Given the description of an element on the screen output the (x, y) to click on. 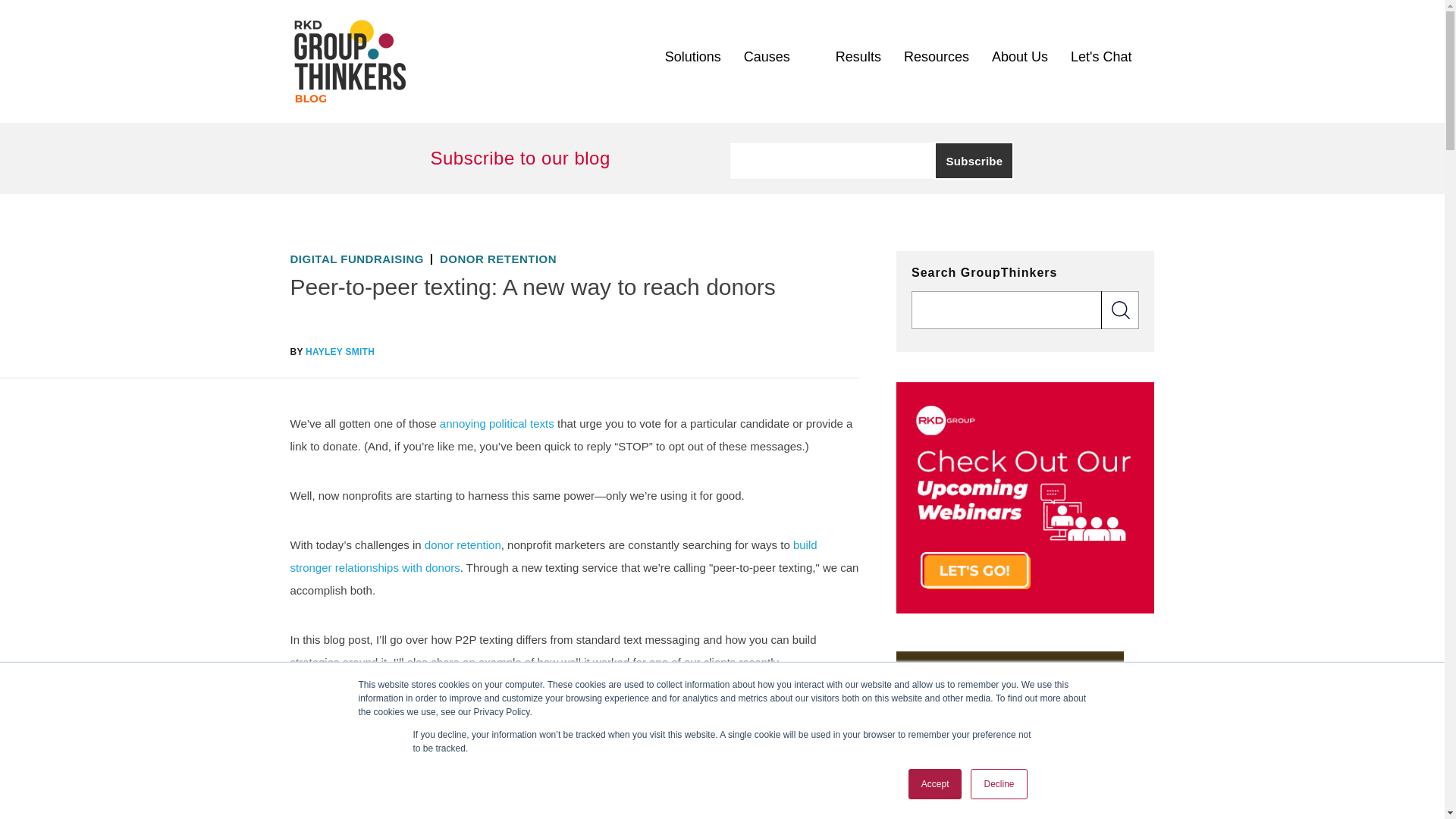
Accept (935, 784)
Resources (936, 56)
Decline (998, 784)
Subscribe (973, 160)
Solutions (692, 56)
